Given the description of an element on the screen output the (x, y) to click on. 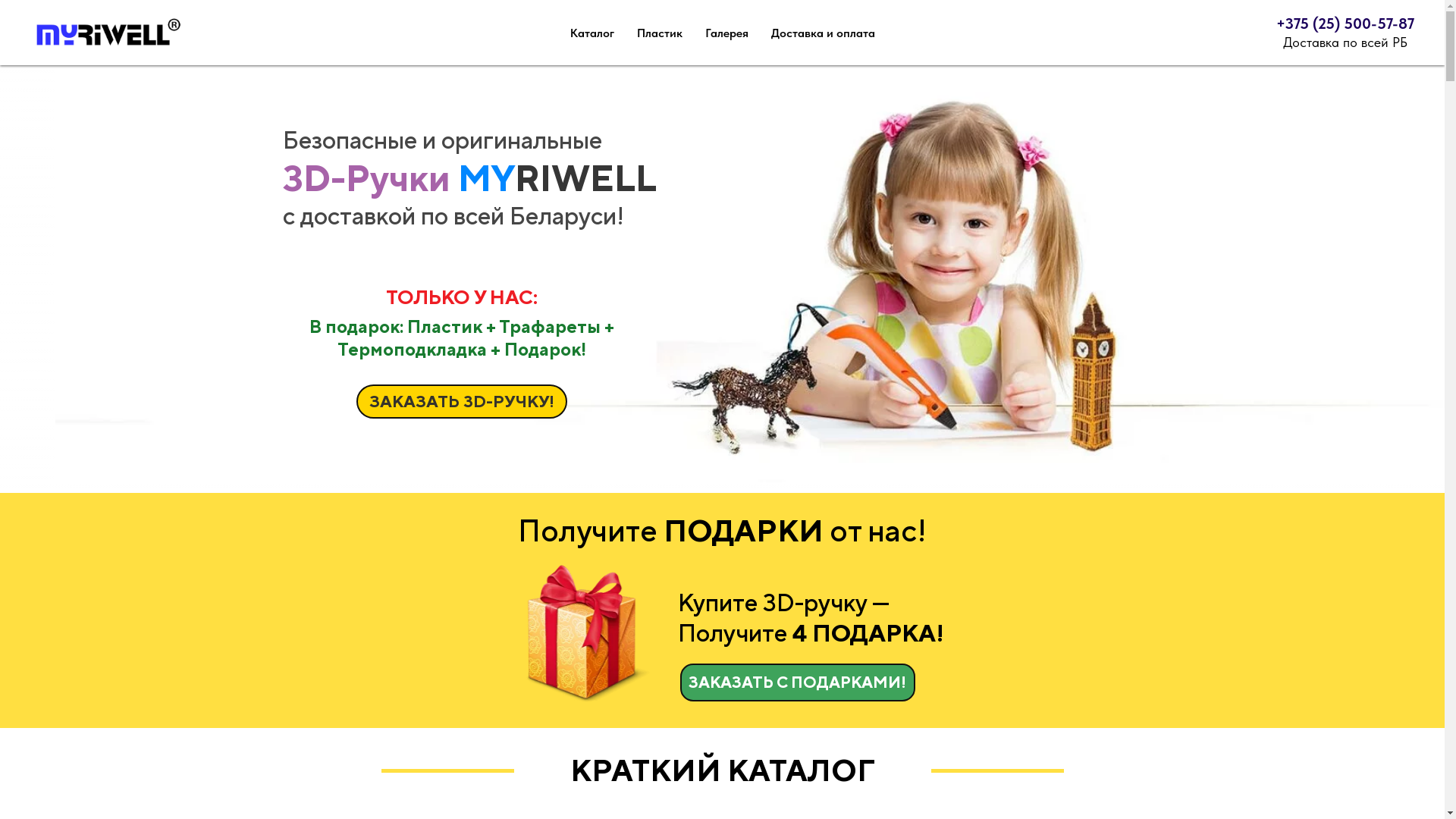
+375 (25) 500-57-87 Element type: text (1345, 23)
